Given the description of an element on the screen output the (x, y) to click on. 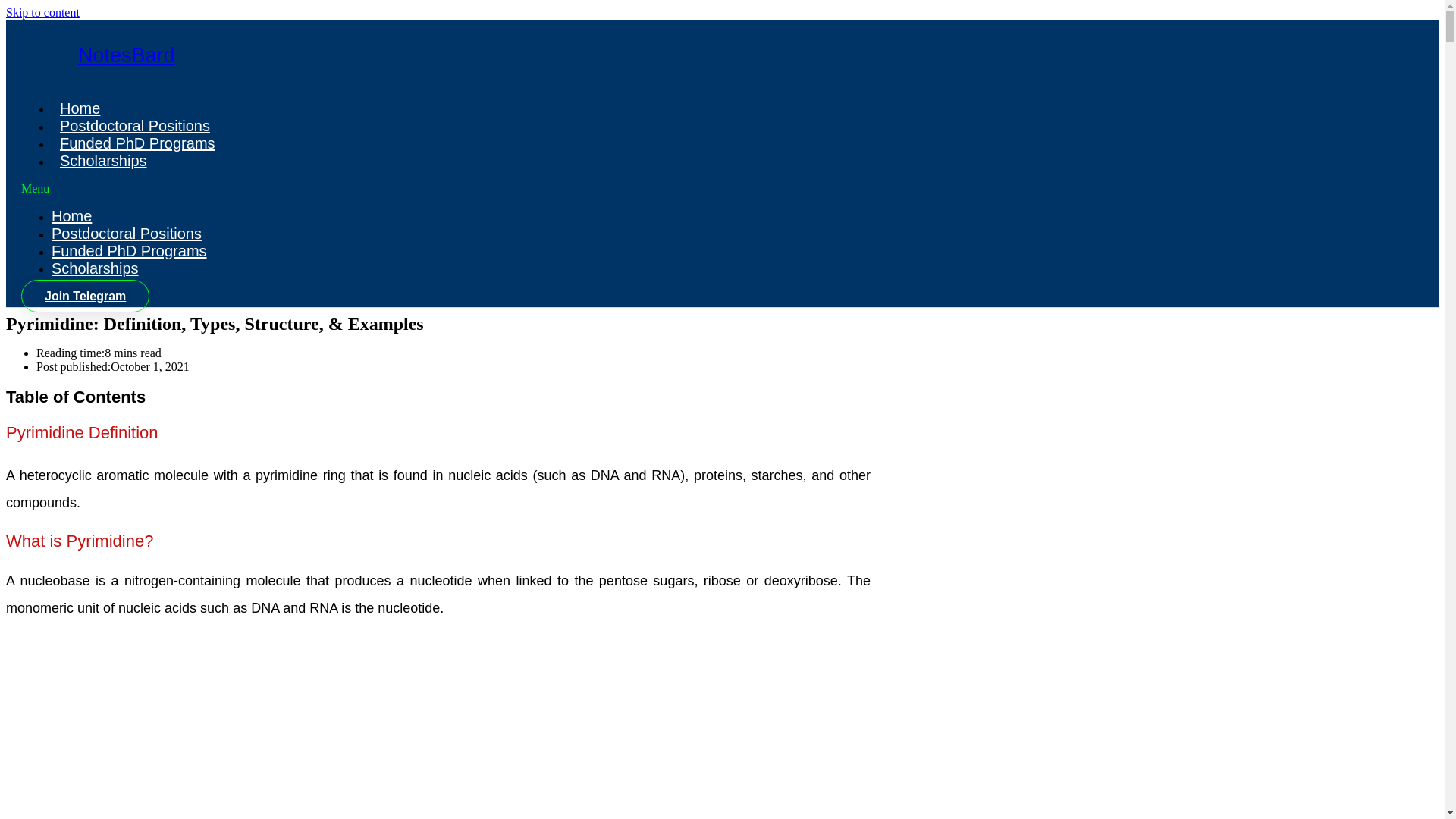
Skip to content (42, 11)
NotesBard (126, 55)
Postdoctoral Positions (134, 125)
Scholarships (94, 268)
Scholarships (102, 160)
Funded PhD Programs (137, 143)
Home (78, 108)
Join Telegram (85, 296)
Home (70, 216)
Postdoctoral Positions (126, 233)
